Given the description of an element on the screen output the (x, y) to click on. 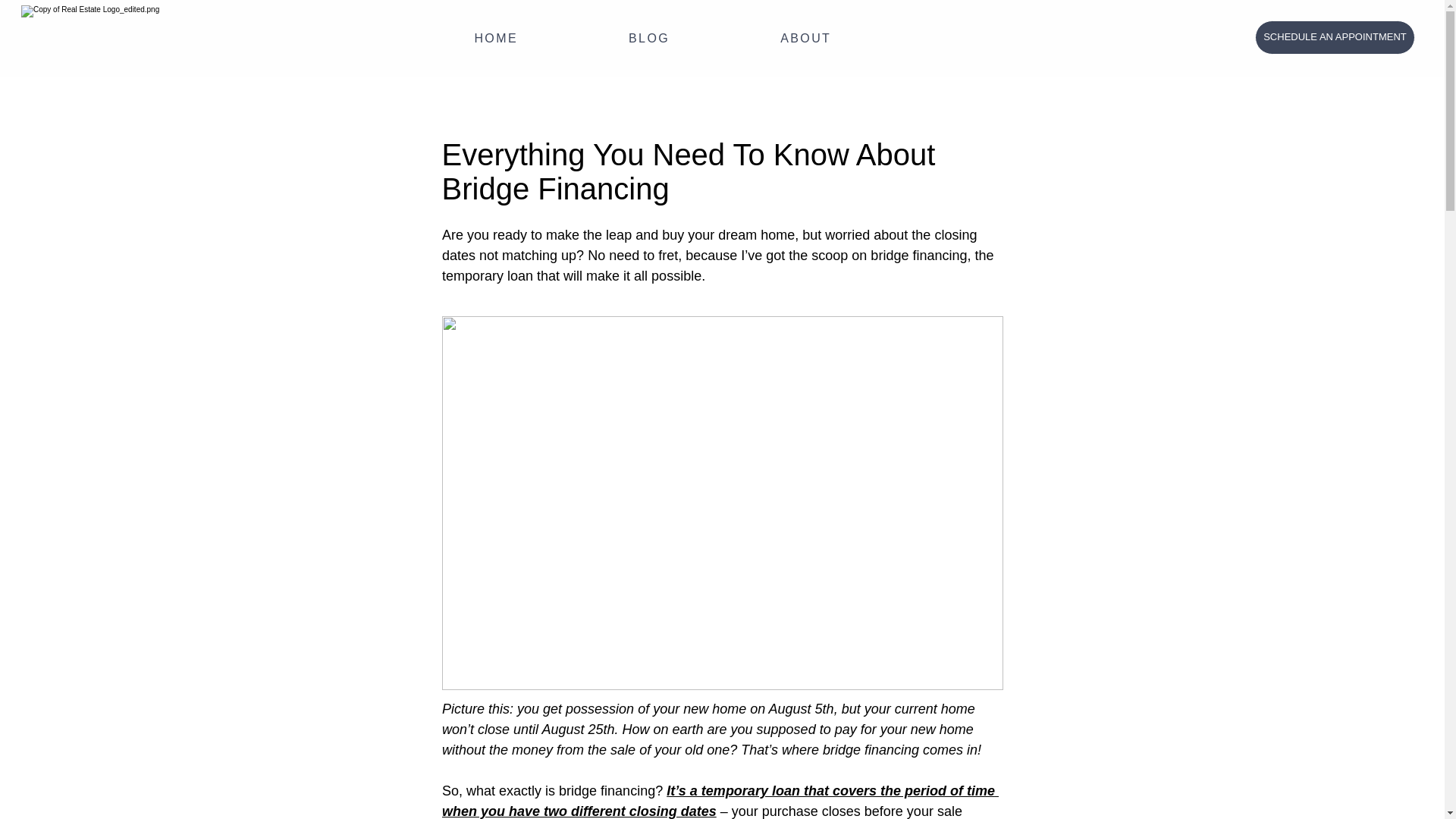
ABOUT (805, 38)
SCHEDULE AN APPOINTMENT (1335, 37)
BLOG (649, 38)
HOME (496, 38)
